Given the description of an element on the screen output the (x, y) to click on. 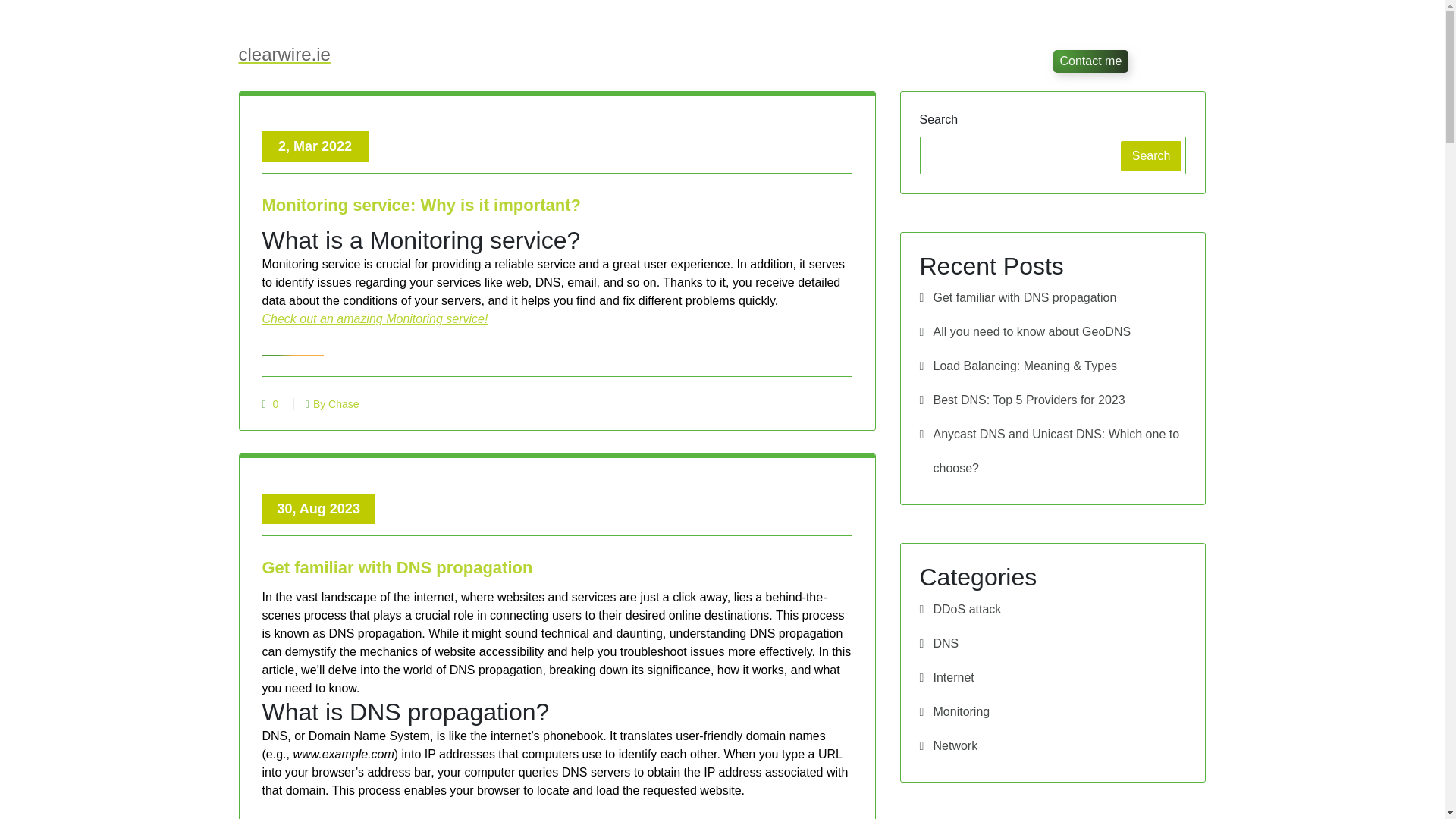
By Chase (332, 404)
Check out an amazing Monitoring service! (374, 318)
Get familiar with DNS propagation (556, 570)
Read More (293, 341)
0 (275, 404)
Monitoring service: Why is it important? (556, 207)
clearwire.ie (284, 55)
Read More (293, 809)
Contact me (1090, 60)
